Given the description of an element on the screen output the (x, y) to click on. 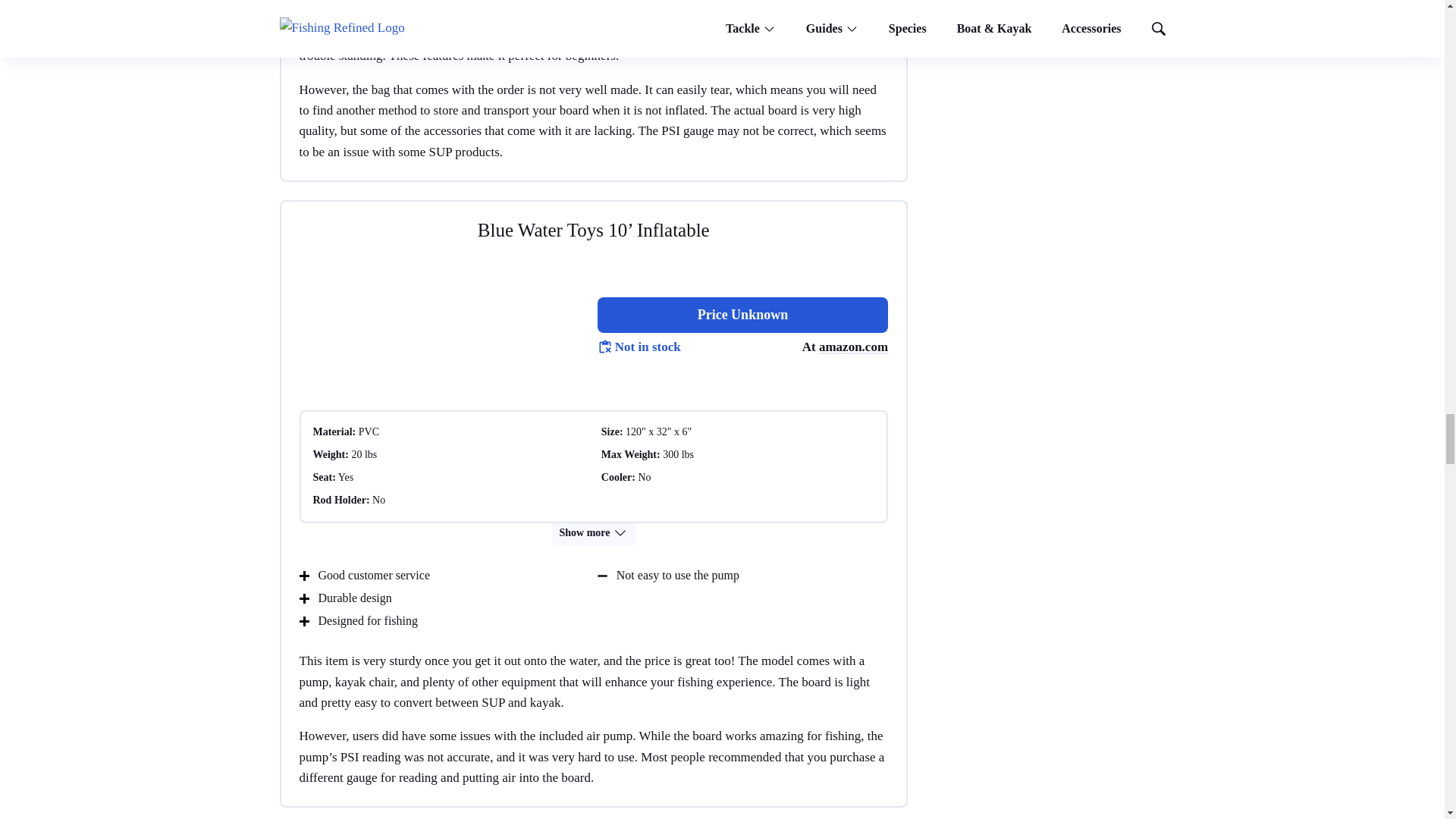
Price Unknown (742, 314)
